Given the description of an element on the screen output the (x, y) to click on. 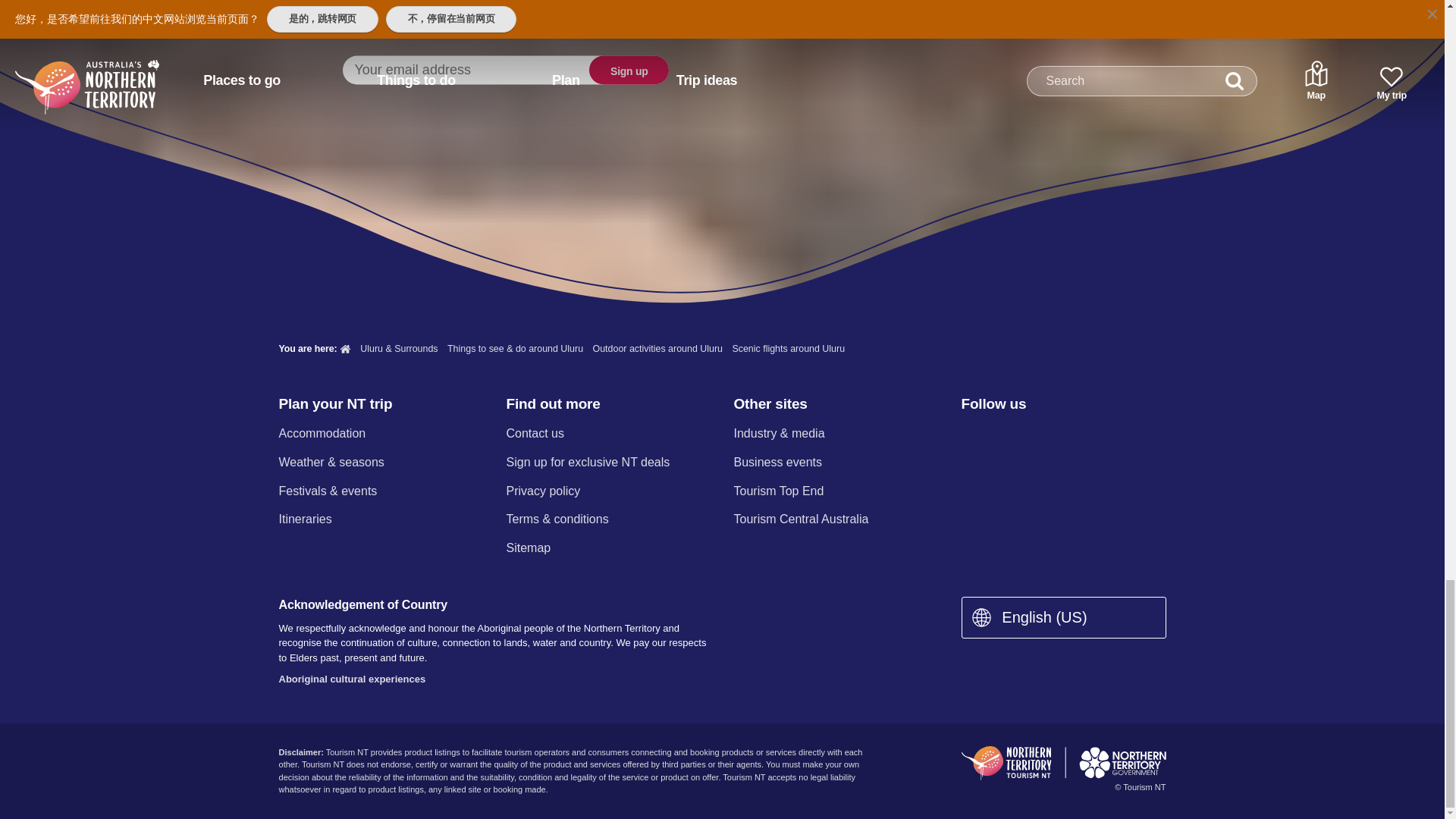
Twitter (1050, 434)
Trip Advisor (1129, 434)
Instagram (1009, 434)
Facebook (970, 434)
YouTube (1089, 434)
